Given the description of an element on the screen output the (x, y) to click on. 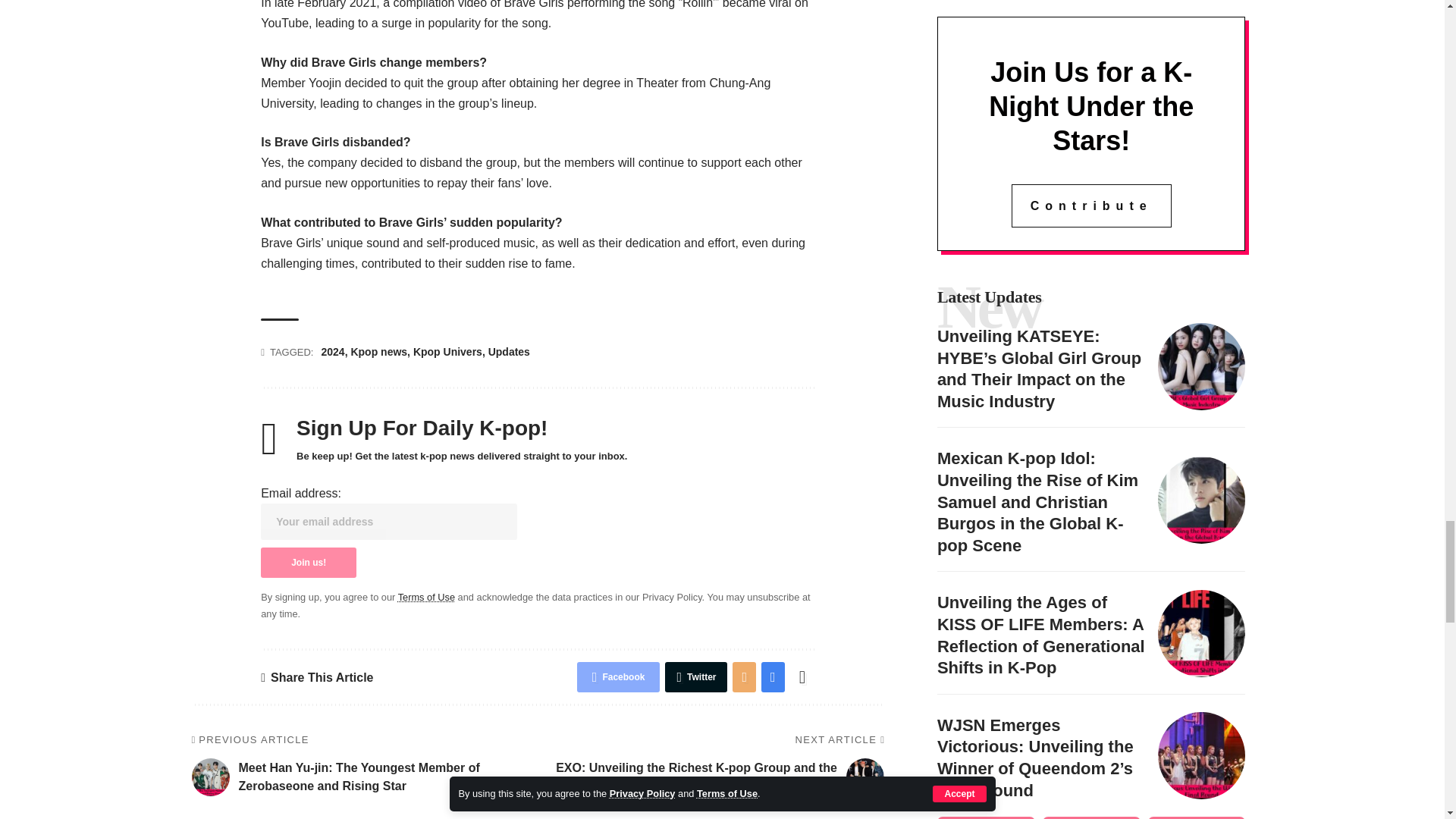
Join us! (308, 562)
